Given the description of an element on the screen output the (x, y) to click on. 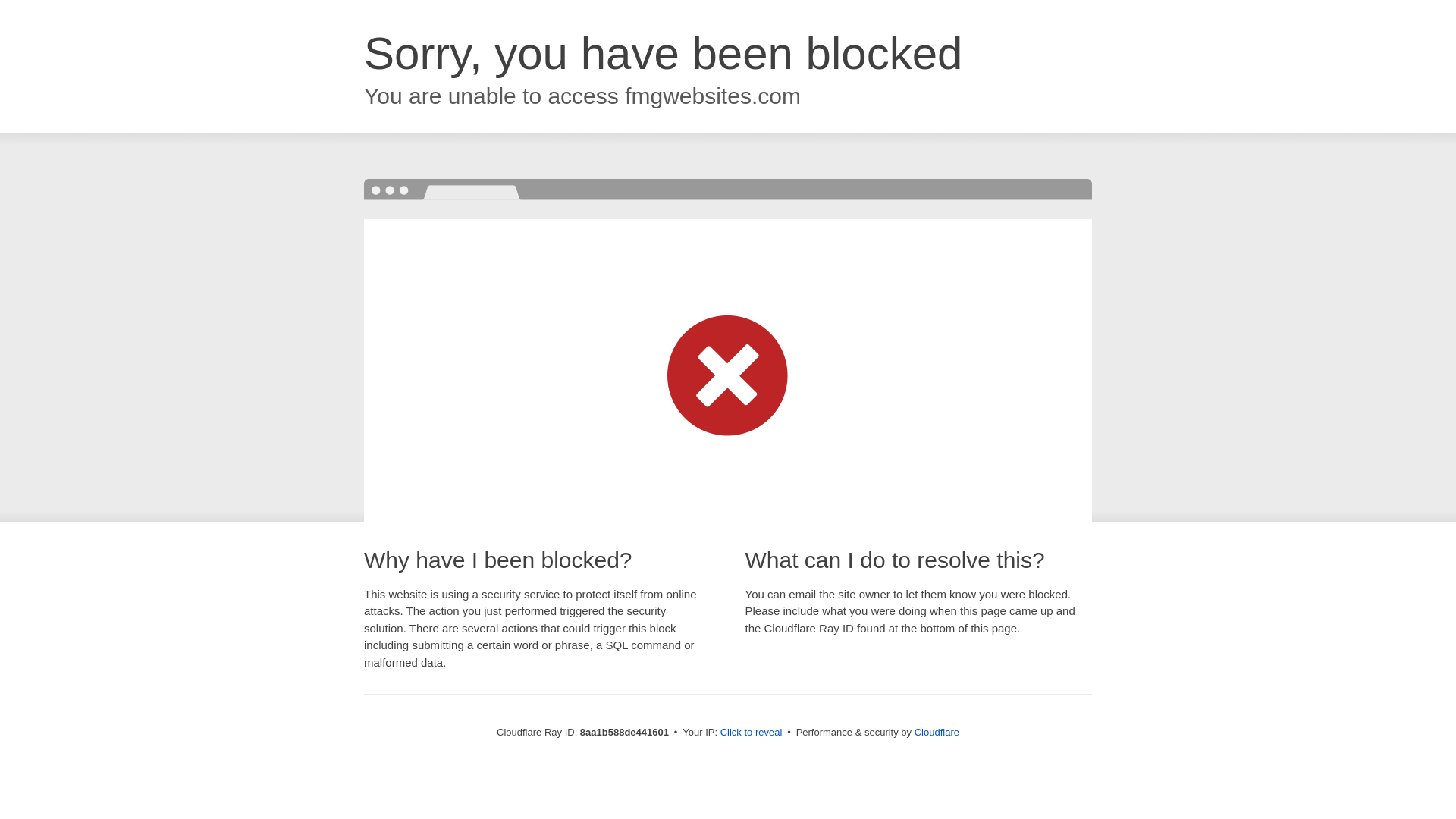
Click to reveal (751, 732)
Cloudflare (936, 731)
